Given the description of an element on the screen output the (x, y) to click on. 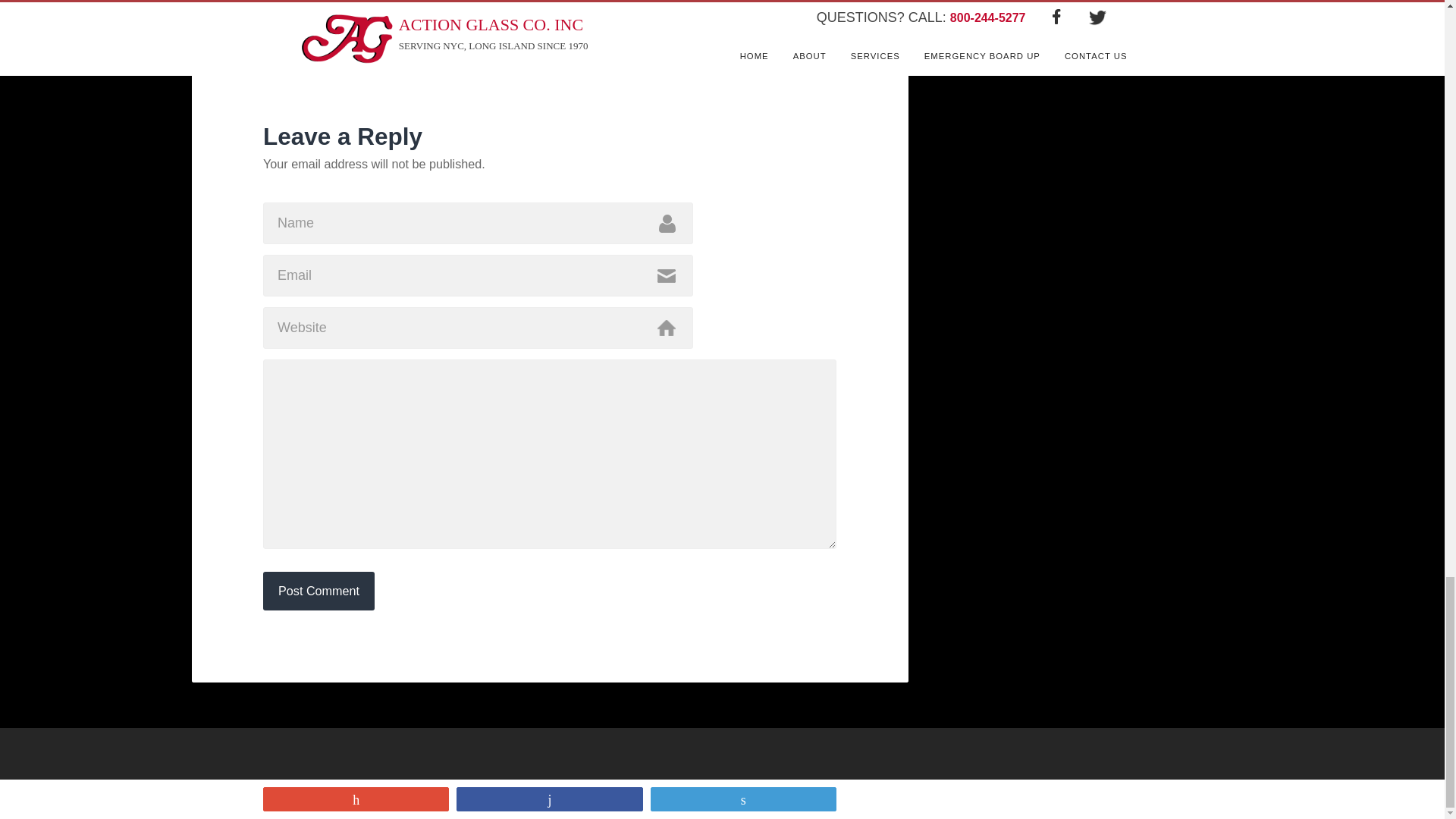
Previous post (765, 2)
Post Comment (318, 590)
Next post: The Short History Of Stained Glass Windows (765, 21)
Next post (765, 21)
